Given the description of an element on the screen output the (x, y) to click on. 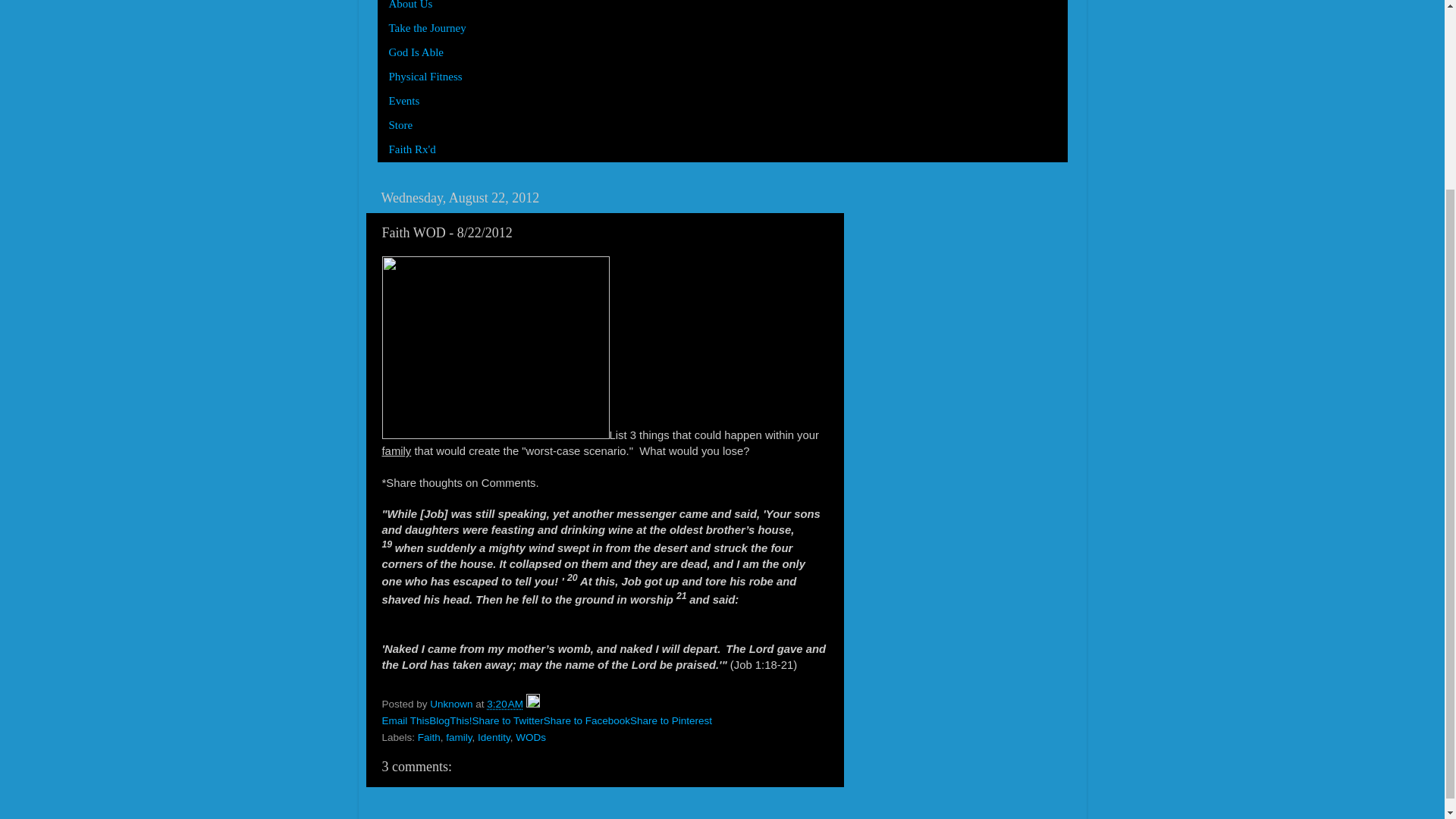
permanent link (504, 704)
Physical Fitness (425, 77)
Share to Twitter (507, 720)
Events (404, 101)
WODs (530, 737)
Store (401, 125)
Share to Twitter (507, 720)
BlogThis! (450, 720)
Take the Journey (428, 28)
